Given the description of an element on the screen output the (x, y) to click on. 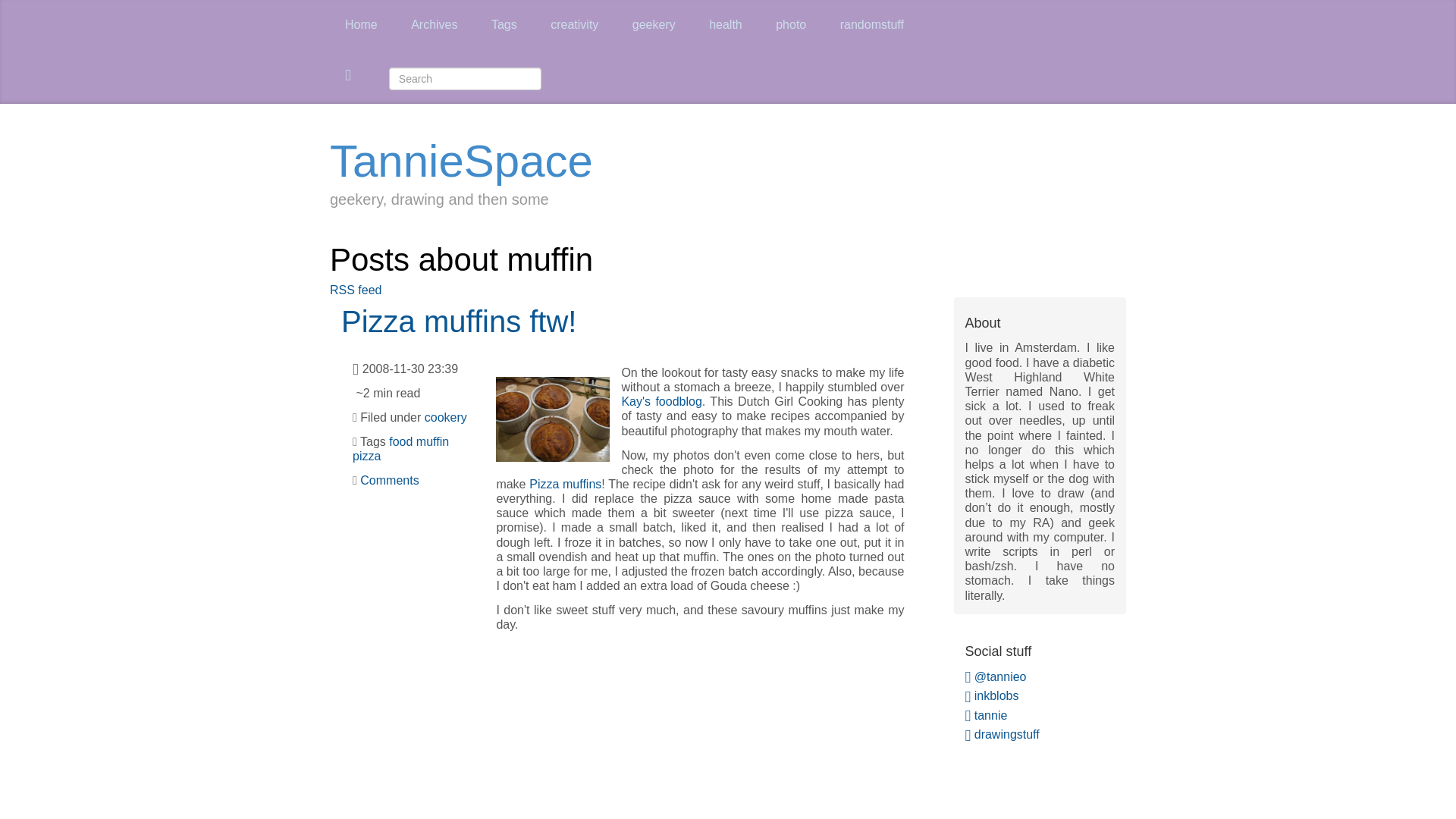
geekery (653, 24)
TannieSpace (461, 160)
inkblobs (990, 695)
health (725, 24)
Tags (503, 24)
pizza (366, 455)
Archives (433, 24)
photo (790, 24)
Pizza muffins ftw! (458, 321)
Pizza muffins (565, 483)
RSS feed (355, 289)
tannie (985, 715)
Kay's foodblog (661, 400)
Comments (389, 480)
Home (361, 24)
